Given the description of an element on the screen output the (x, y) to click on. 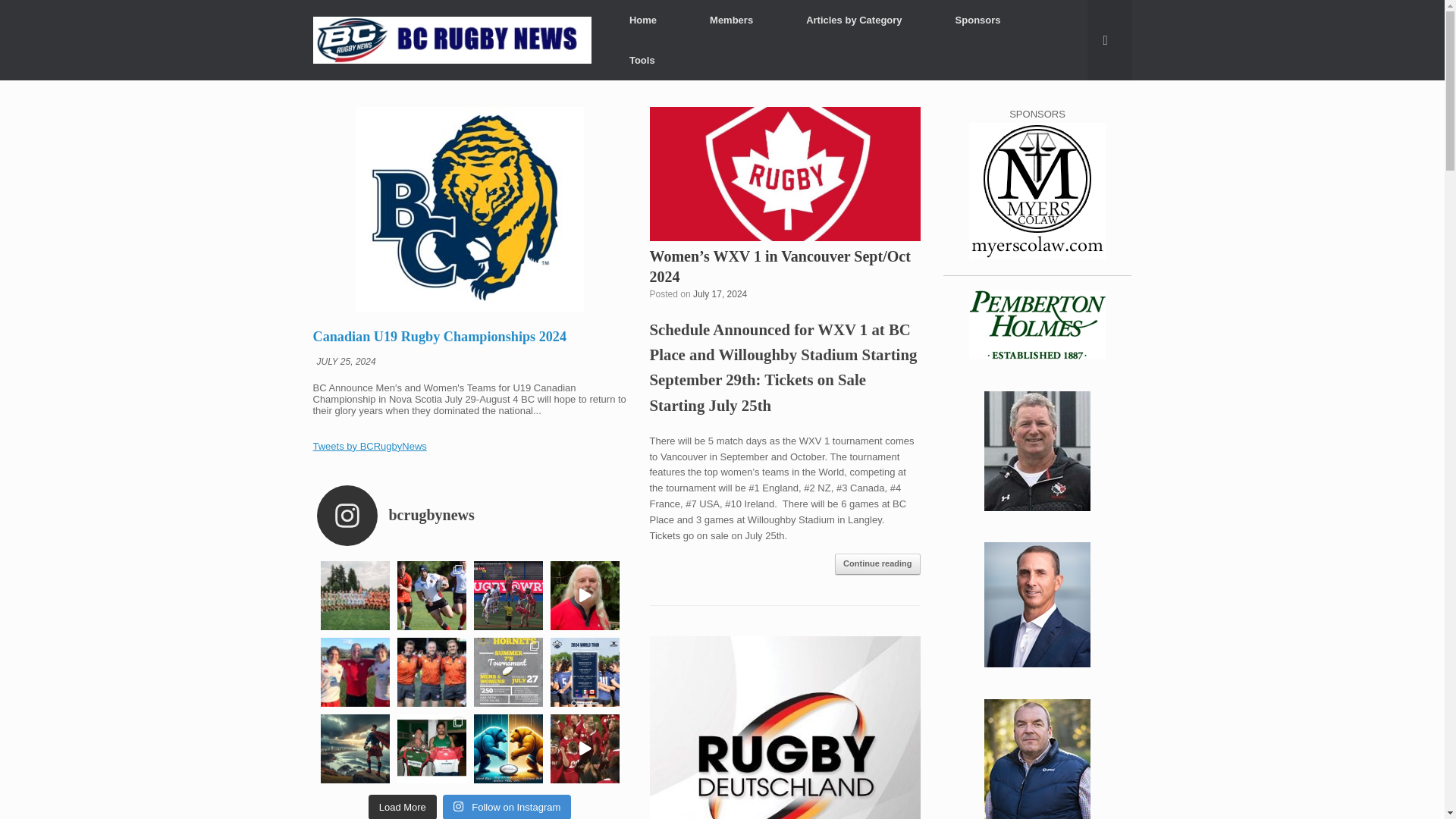
Home (642, 20)
bcrugbynews (473, 515)
Articles by Category (853, 20)
BC Rugby News (452, 40)
Tools (641, 60)
Tweets by BCRugbyNews (369, 446)
Members (730, 20)
Canadian U19 Rugby Championships 2024 (439, 336)
12:11 pm (719, 294)
Sponsors (977, 20)
